Given the description of an element on the screen output the (x, y) to click on. 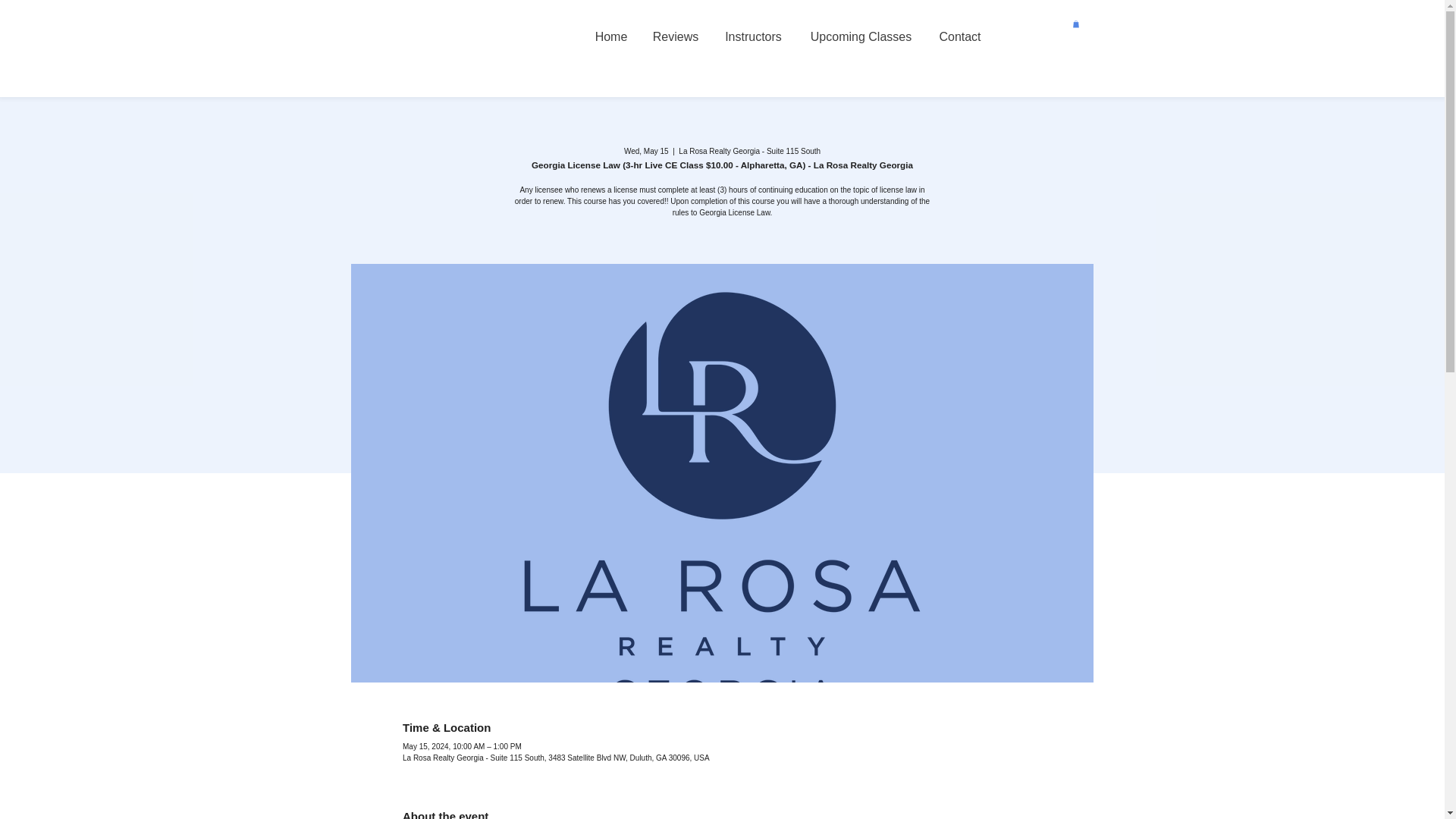
Reviews (675, 36)
Instructors (753, 36)
Upcoming Classes (861, 36)
Home (611, 36)
Contact (960, 36)
